Given the description of an element on the screen output the (x, y) to click on. 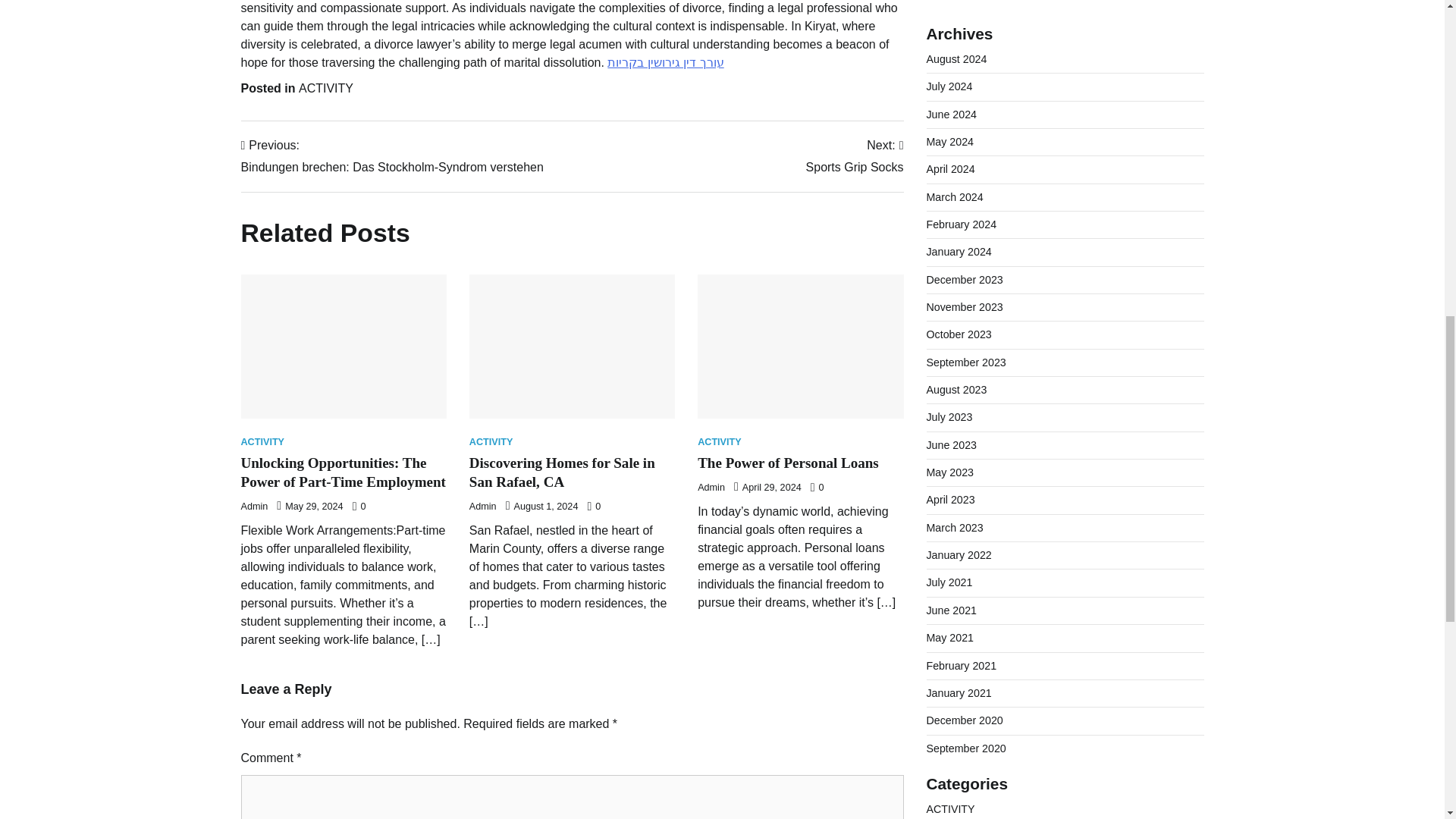
Admin (254, 506)
ACTIVITY (855, 156)
Admin (263, 442)
ACTIVITY (482, 506)
Admin (719, 442)
Unlocking Opportunities: The Power of Part-Time Employment (711, 487)
ACTIVITY (343, 472)
The Power of Personal Loans (392, 156)
